Given the description of an element on the screen output the (x, y) to click on. 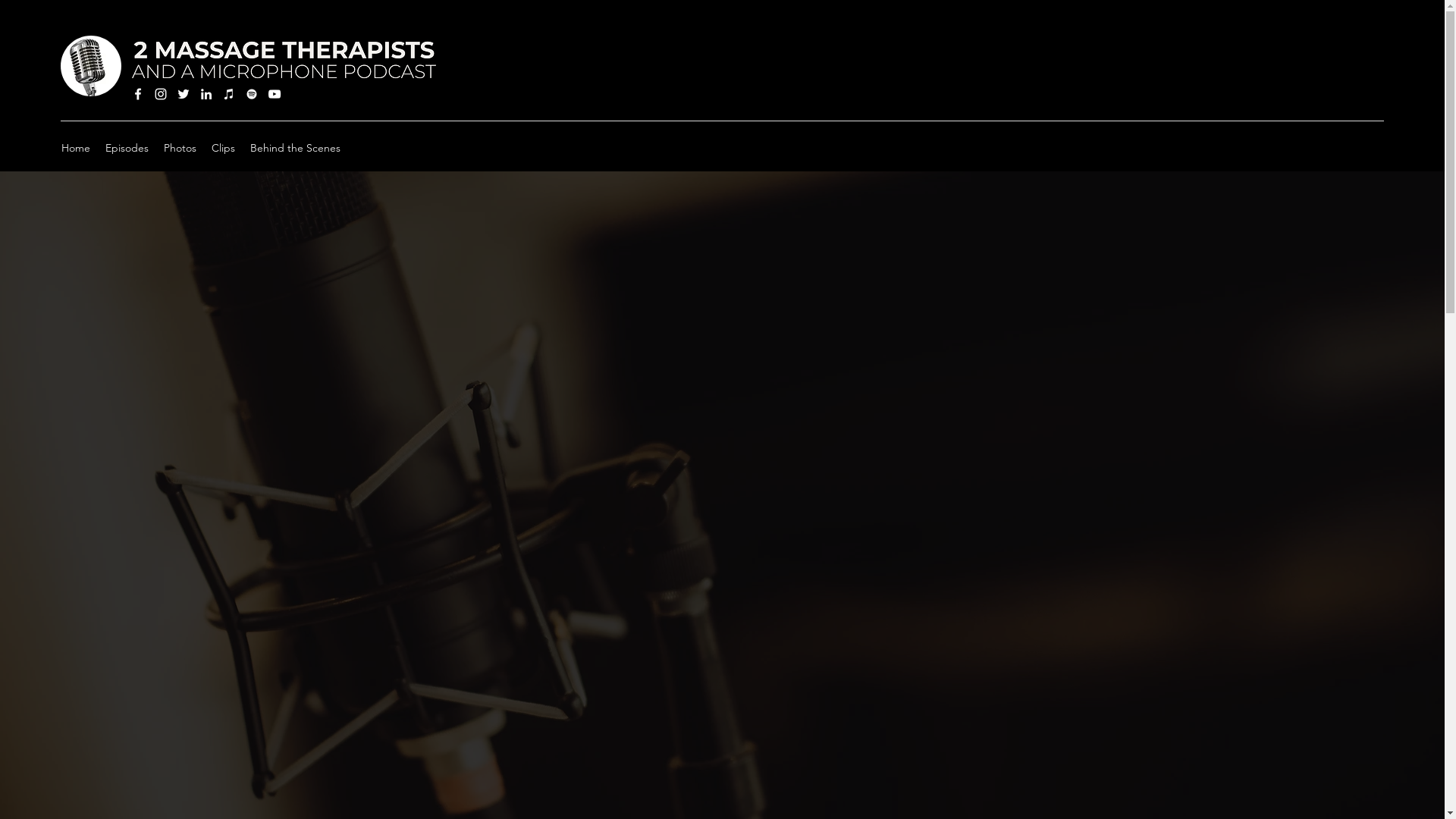
Behind the Scenes Element type: text (295, 147)
Clips Element type: text (222, 147)
Photos Element type: text (179, 147)
Home Element type: text (75, 147)
Episodes Element type: text (126, 147)
